Given the description of an element on the screen output the (x, y) to click on. 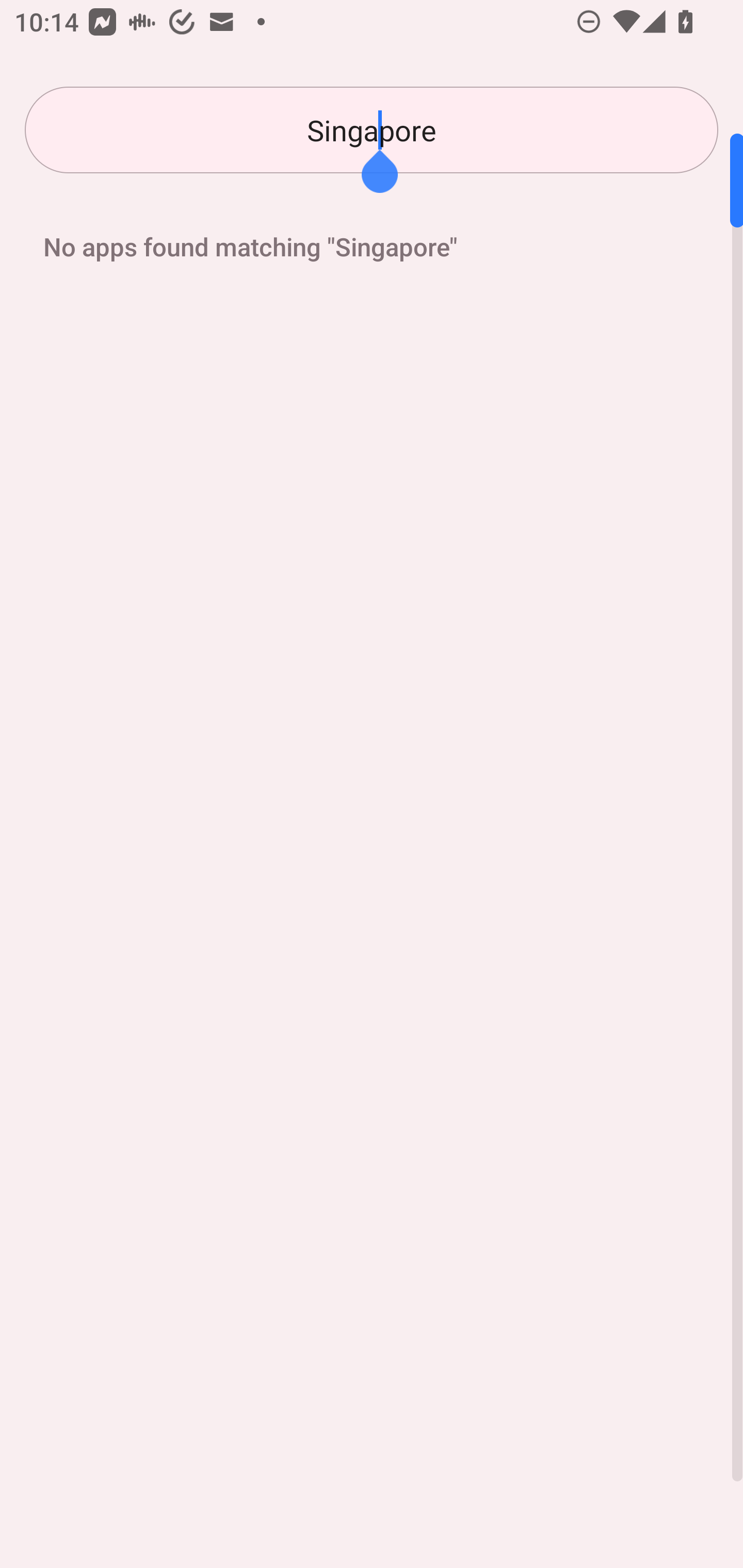
Singapore (371, 130)
